Given the description of an element on the screen output the (x, y) to click on. 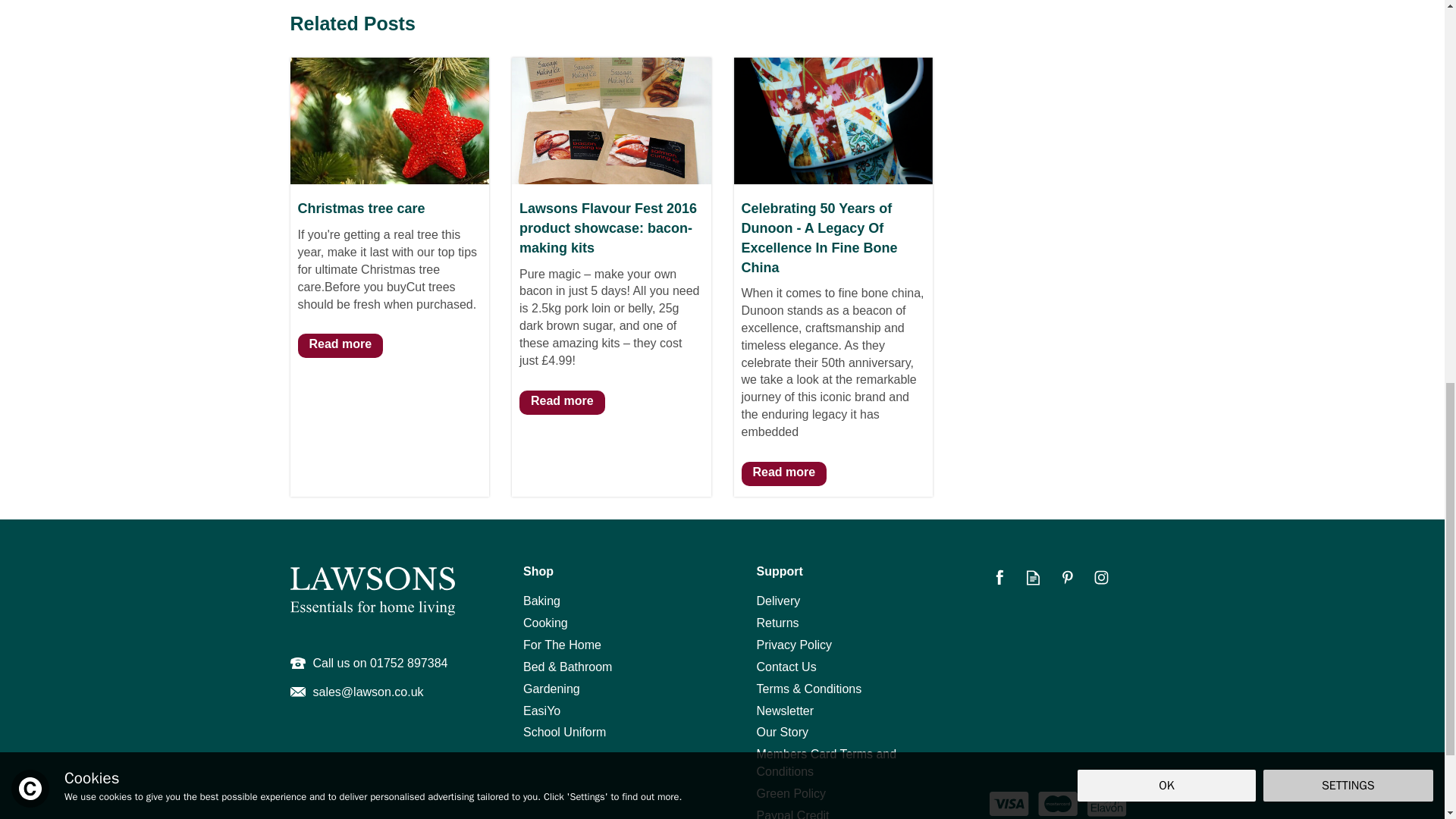
Delivery (839, 601)
EasiYo (605, 710)
Cooking (605, 623)
Baking (605, 601)
Gardening (605, 689)
Baking (605, 601)
School Uniform (605, 732)
Returns (839, 623)
Cooking (605, 623)
For The Home (605, 645)
Privacy Policy (839, 645)
For The Home (605, 645)
Gardening (605, 689)
